Given the description of an element on the screen output the (x, y) to click on. 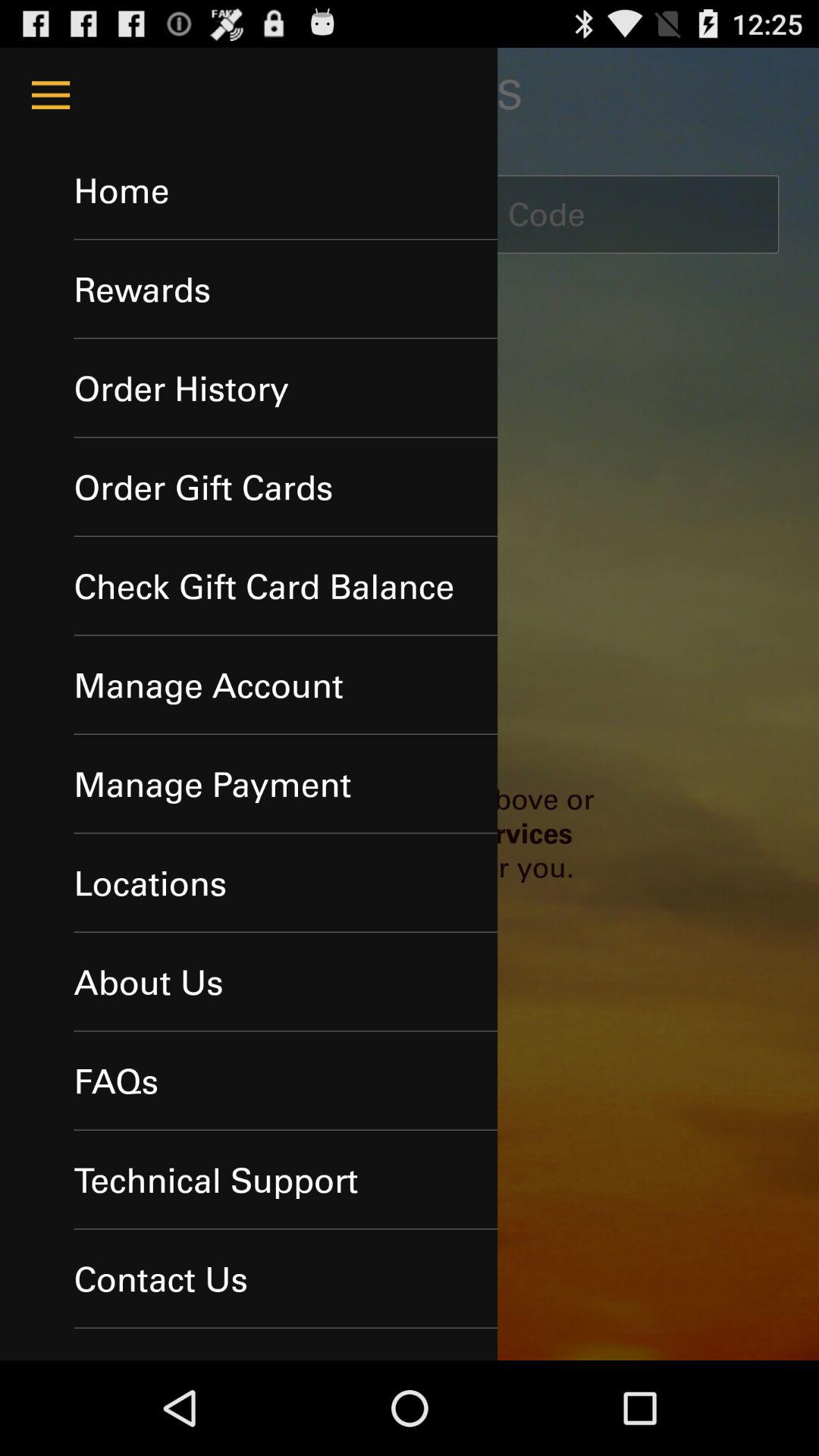
click on menu icon (50, 95)
